Given the description of an element on the screen output the (x, y) to click on. 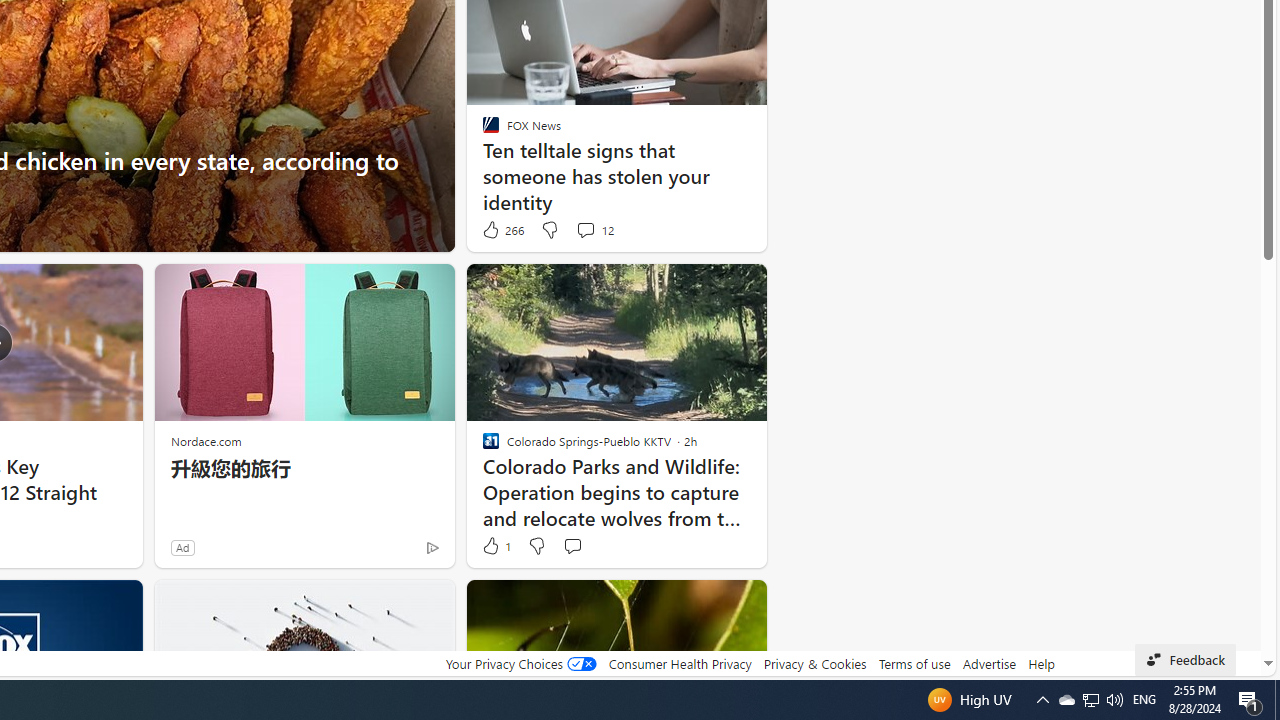
Privacy & Cookies (814, 663)
View comments 12 Comment (594, 230)
266 Like (502, 230)
